Given the description of an element on the screen output the (x, y) to click on. 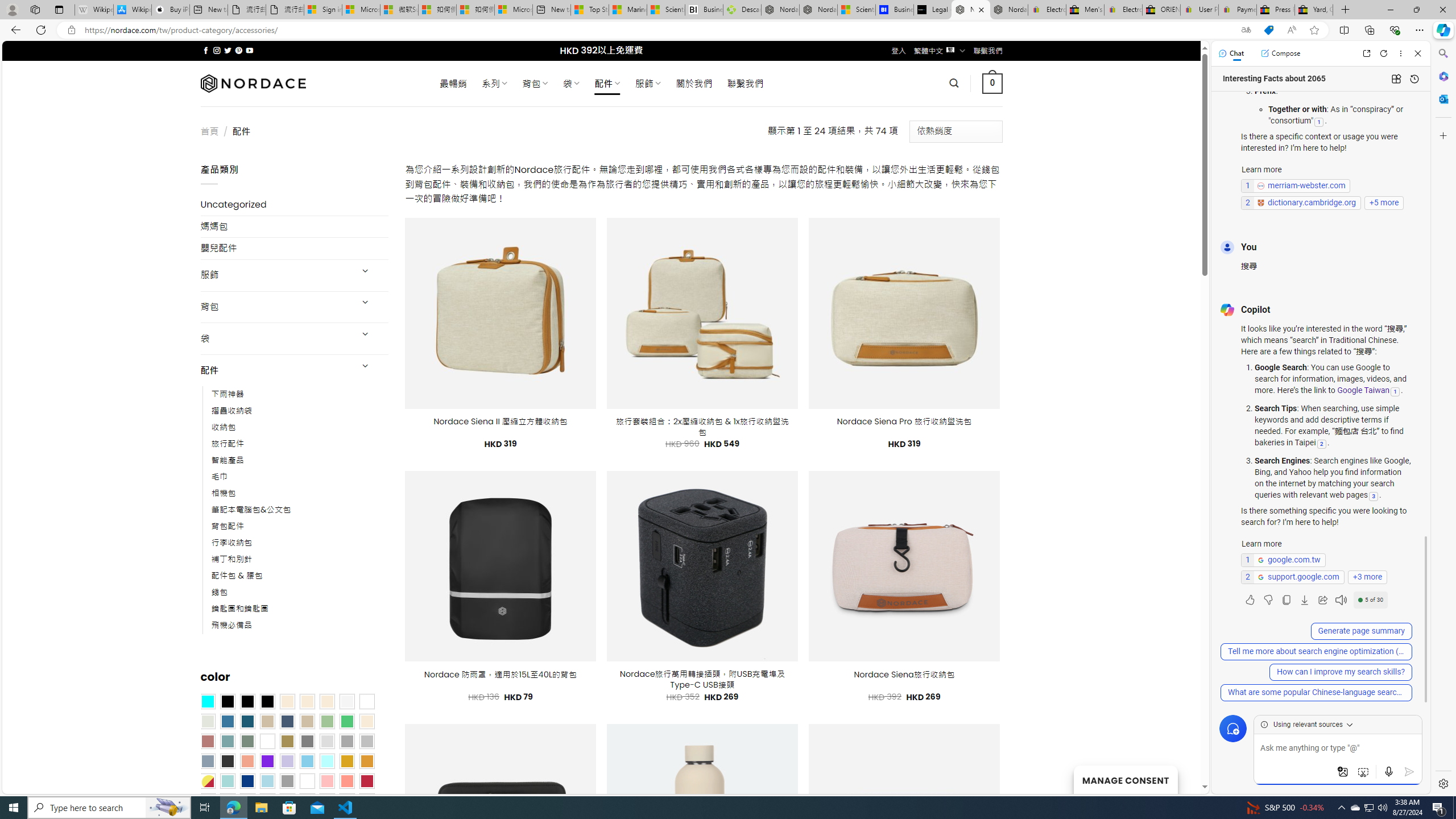
Wikipedia - Sleeping (93, 9)
Follow on Twitter (227, 50)
Customize (1442, 135)
